Given the description of an element on the screen output the (x, y) to click on. 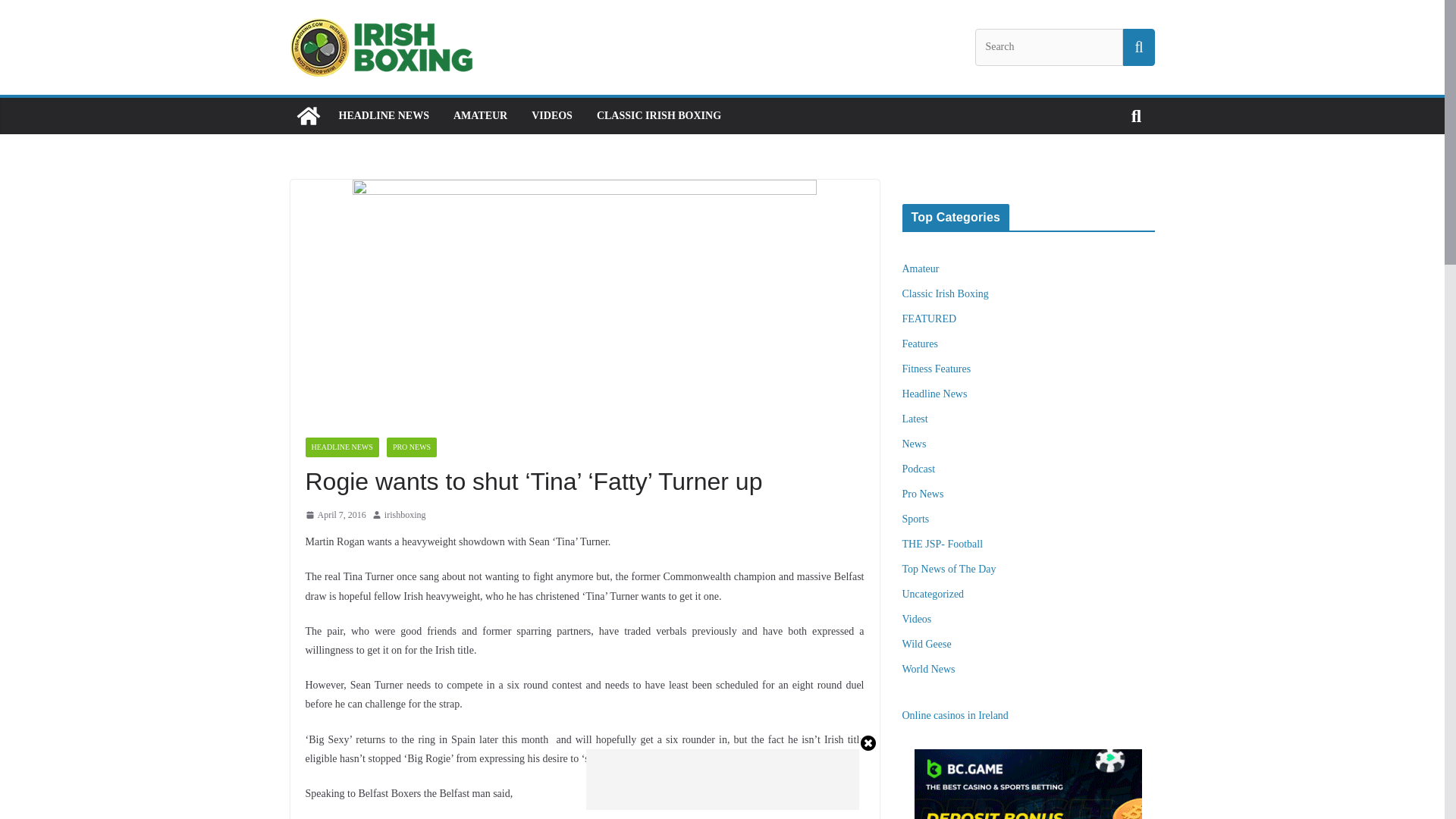
Podcast (919, 469)
Amateur (920, 268)
PRO NEWS (411, 447)
HEADLINE NEWS (382, 115)
Pro News (922, 493)
Latest (915, 419)
Fitness Features (936, 368)
irishboxing (405, 515)
Irish Boxing (307, 115)
FEATURED (929, 318)
Top News of The Day (948, 568)
CLASSIC IRISH BOXING (658, 115)
HEADLINE NEWS (341, 447)
irishboxing (405, 515)
Headline News (935, 393)
